Given the description of an element on the screen output the (x, y) to click on. 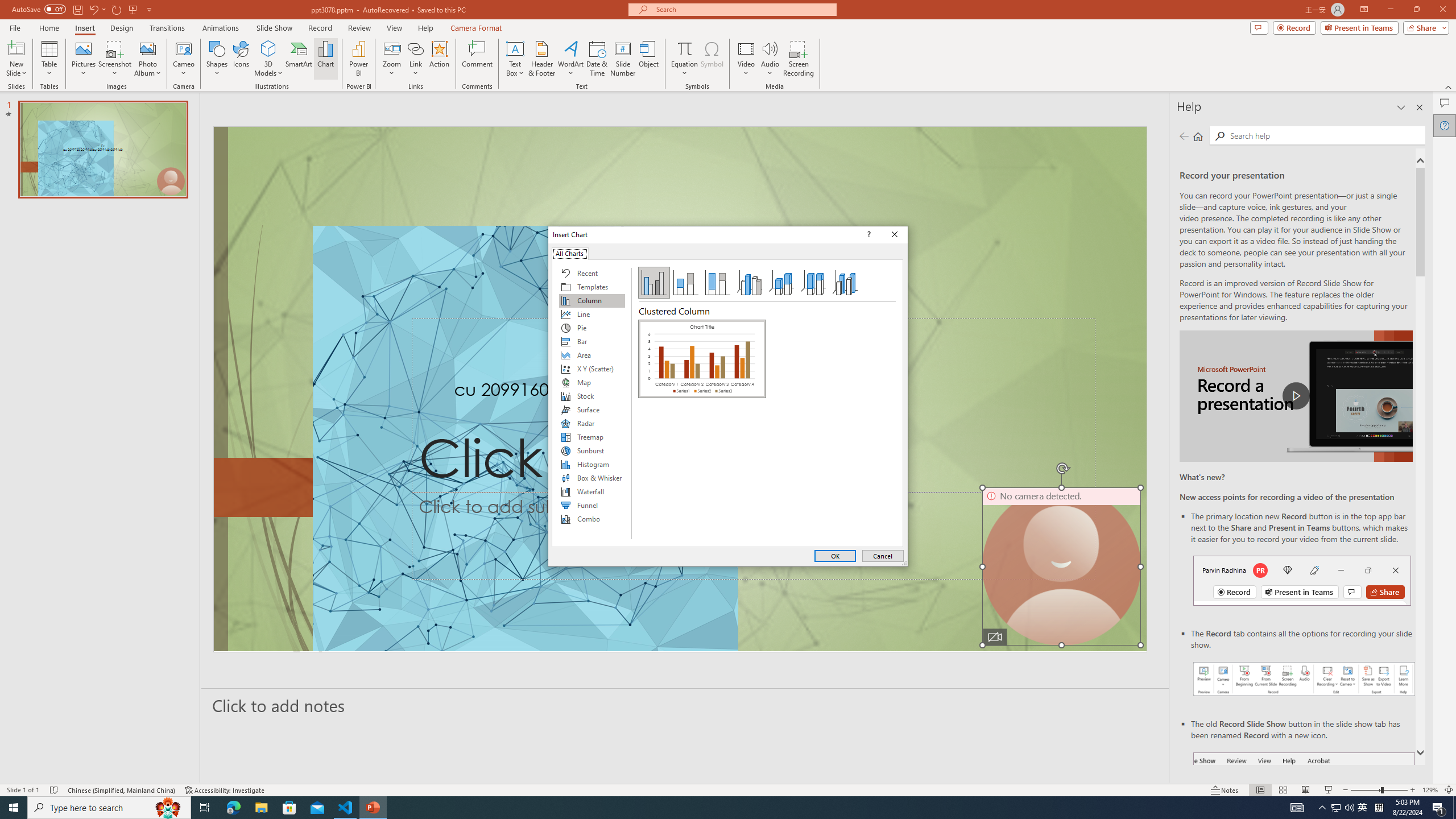
Draw Horizontal Text Box (515, 48)
All Charts (569, 253)
Chart Types (591, 403)
Context help (867, 234)
Icons (240, 58)
